Given the description of an element on the screen output the (x, y) to click on. 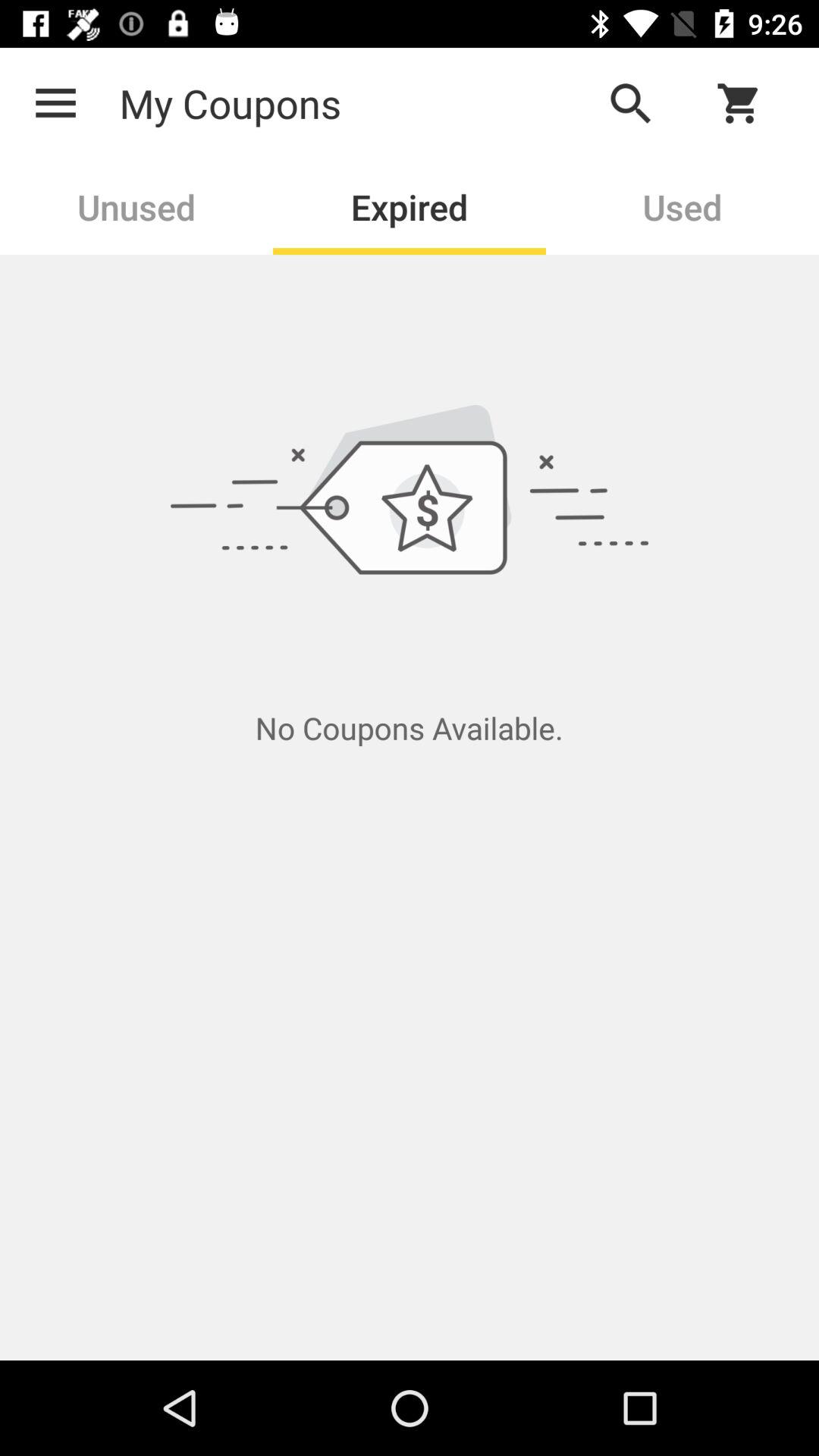
open the app to the right of the my coupons item (630, 103)
